Given the description of an element on the screen output the (x, y) to click on. 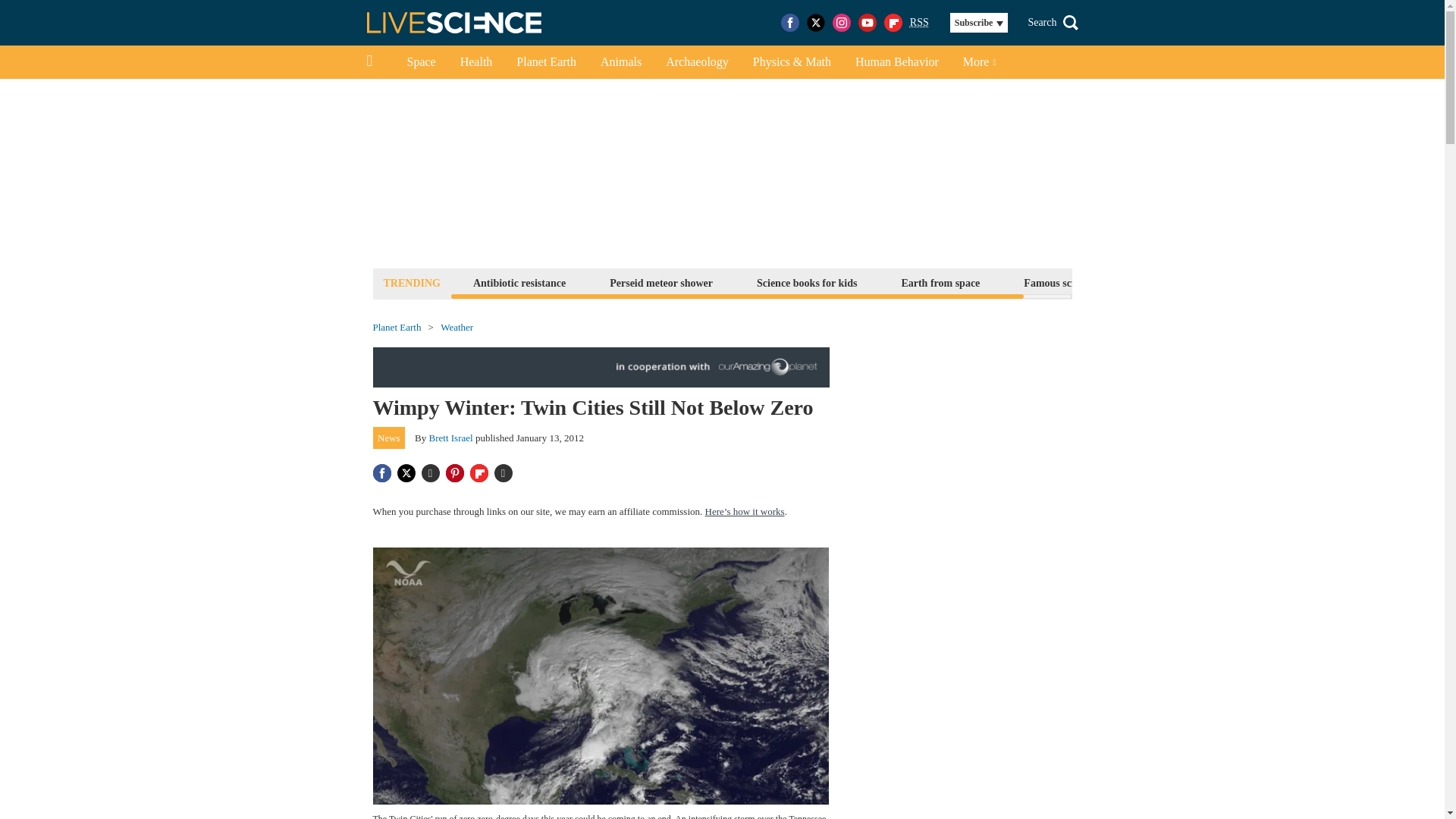
Space (420, 61)
Planet Earth (397, 327)
Earth from space (940, 282)
Weather (457, 327)
RSS (919, 22)
Perseid meteor shower (660, 282)
Archaeology (697, 61)
News (389, 437)
Health (476, 61)
Science books for kids (806, 282)
